Given the description of an element on the screen output the (x, y) to click on. 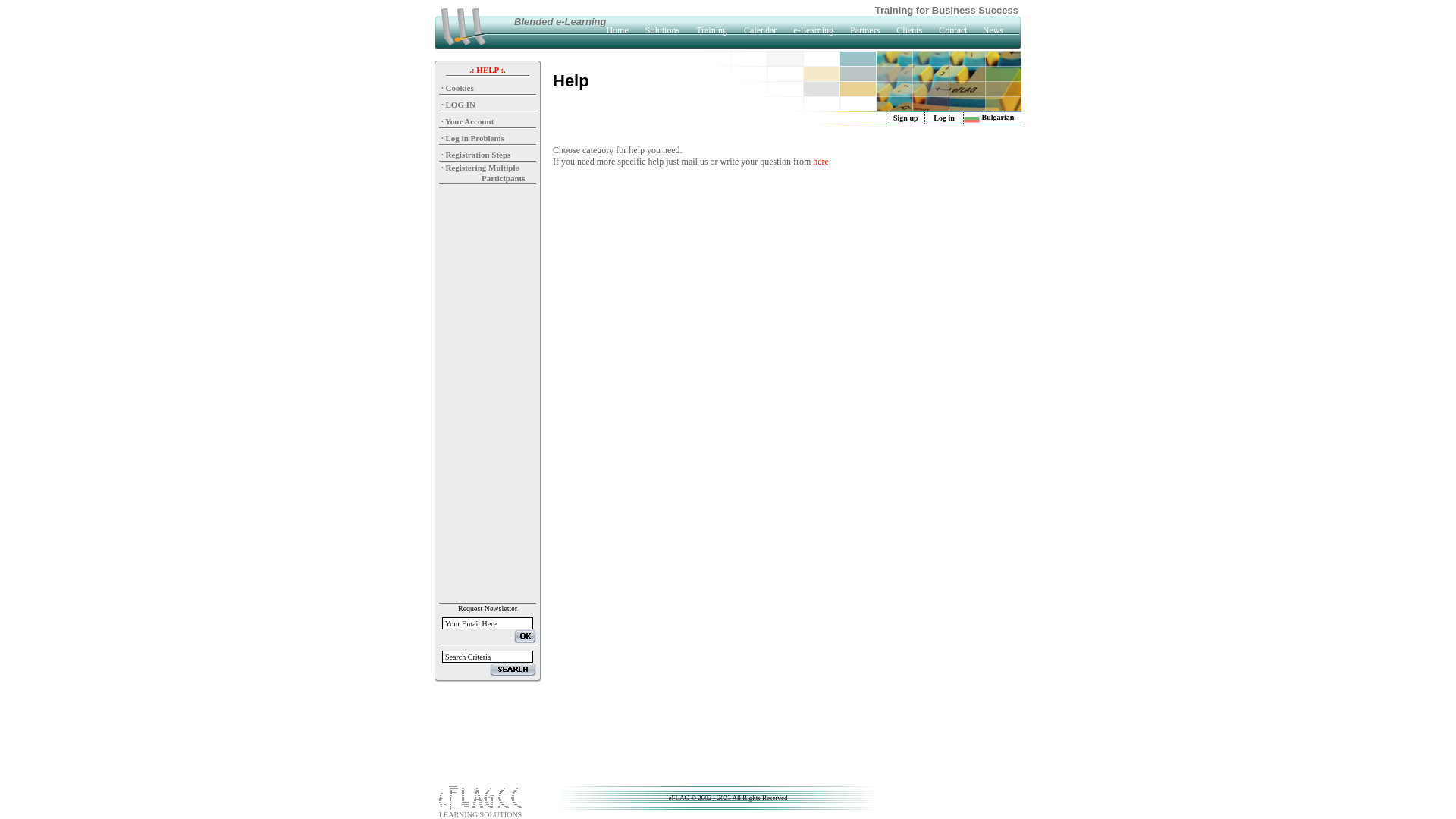
 Bulgarian Element type: text (988, 116)
Home Element type: text (616, 30)
Sign up Element type: text (905, 117)
News Element type: text (992, 30)
here Element type: text (820, 161)
Log in Element type: text (943, 117)
